Given the description of an element on the screen output the (x, y) to click on. 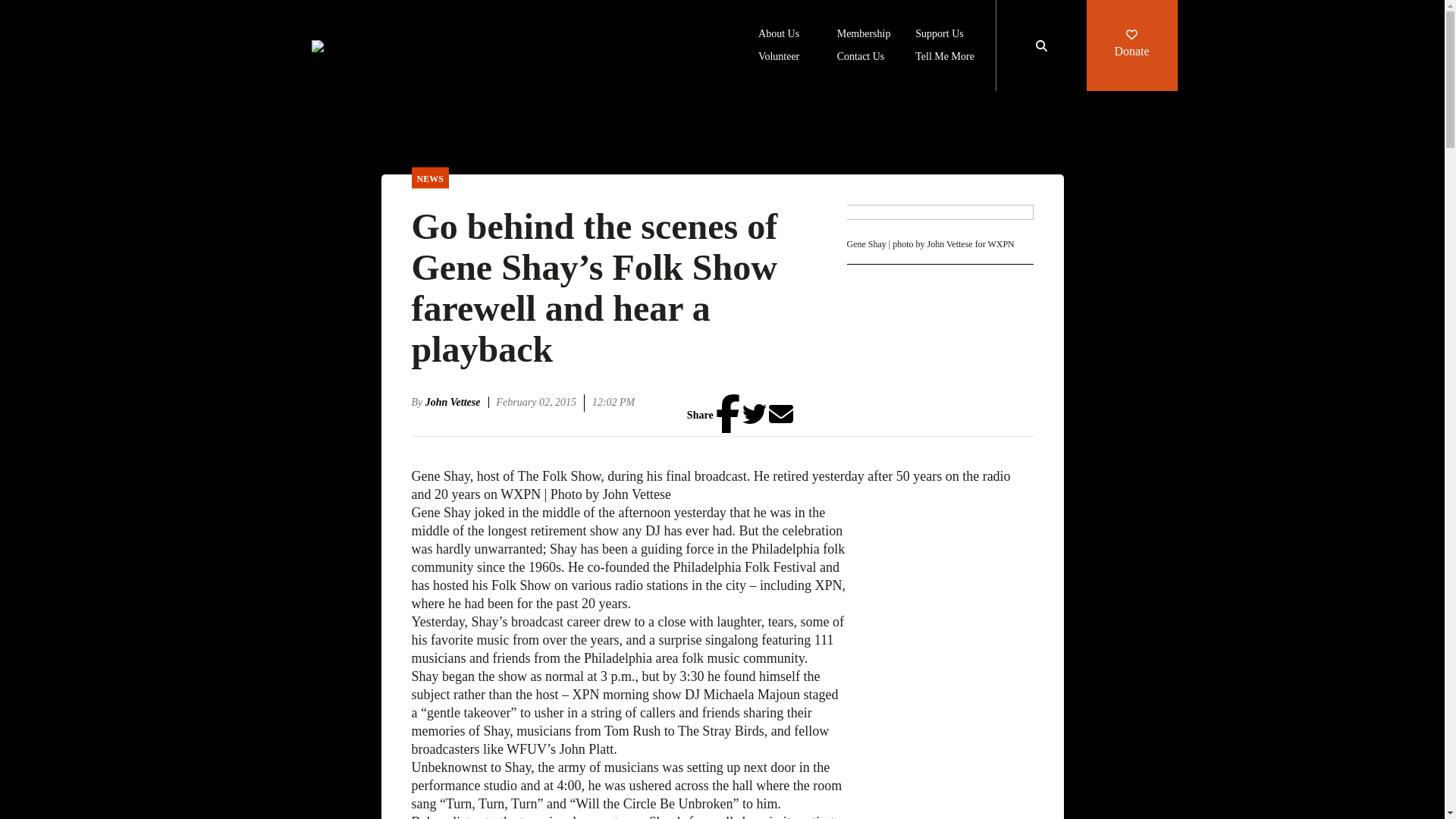
Membership (864, 35)
Tell Me More (944, 57)
John Vettese (457, 401)
Support Us (938, 35)
Contact Us (861, 57)
About Us (778, 35)
Volunteer (778, 57)
Donate (1131, 45)
